Given the description of an element on the screen output the (x, y) to click on. 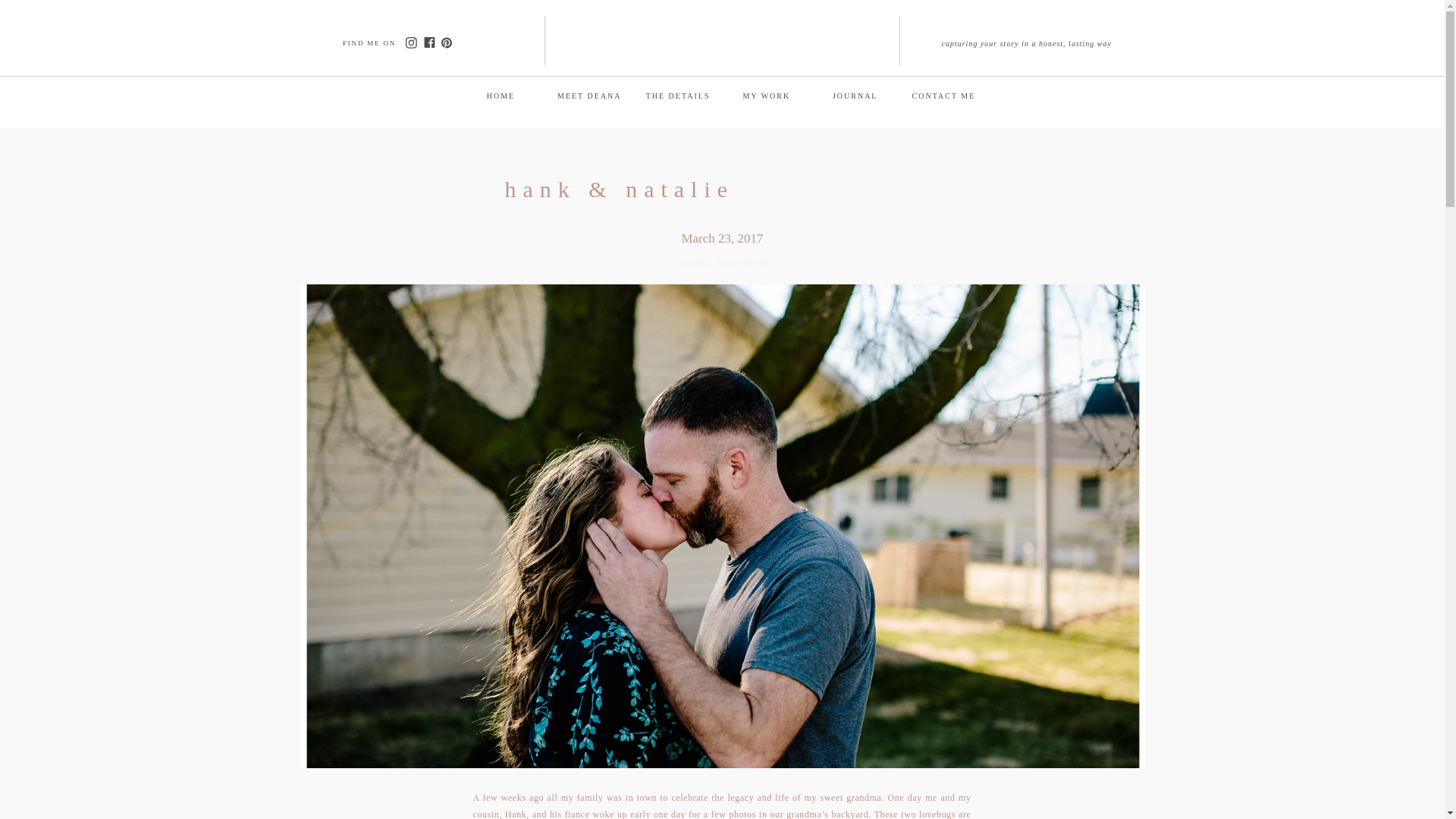
THE DETAILS (678, 94)
MEET DEANA (589, 94)
Facebook Copy-color Created with Sketch. (428, 42)
CONTACT ME (943, 94)
couples (692, 262)
capturing your story in a honest, lasting way  (1027, 42)
engagement (742, 262)
MY WORK (766, 94)
HOME (500, 94)
Instagram-color Created with Sketch. (410, 42)
FIND ME ON (372, 42)
Facebook Copy-color Created with Sketch. (428, 42)
JOURNAL (854, 94)
Instagram-color Created with Sketch. (410, 42)
